Given the description of an element on the screen output the (x, y) to click on. 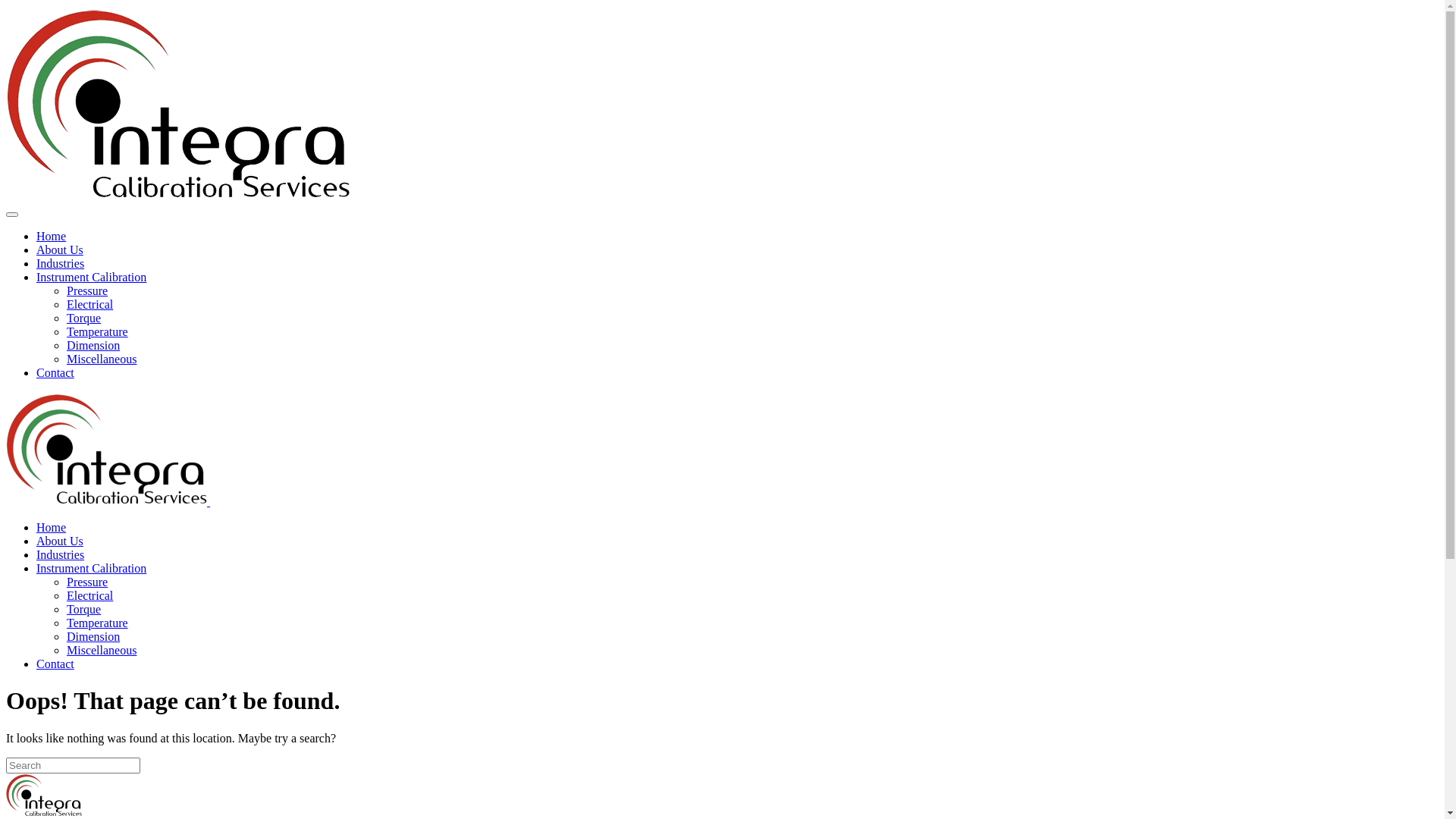
Temperature Element type: text (97, 331)
Pressure Element type: text (86, 290)
Temperature Element type: text (97, 622)
Dimension Element type: text (92, 636)
About Us Element type: text (59, 249)
Industries Element type: text (60, 263)
Instrument Calibration Element type: text (91, 567)
Contact Element type: text (55, 372)
About Us Element type: text (59, 540)
Miscellaneous Element type: text (101, 358)
Instrument Calibration Element type: text (91, 276)
Torque Element type: text (83, 317)
Pressure Element type: text (86, 581)
Electrical Element type: text (89, 595)
Industries Element type: text (60, 554)
Dimension Element type: text (92, 344)
Home Element type: text (50, 526)
Torque Element type: text (83, 608)
Electrical Element type: text (89, 304)
Contact Element type: text (55, 663)
Miscellaneous Element type: text (101, 649)
Home Element type: text (50, 235)
